Given the description of an element on the screen output the (x, y) to click on. 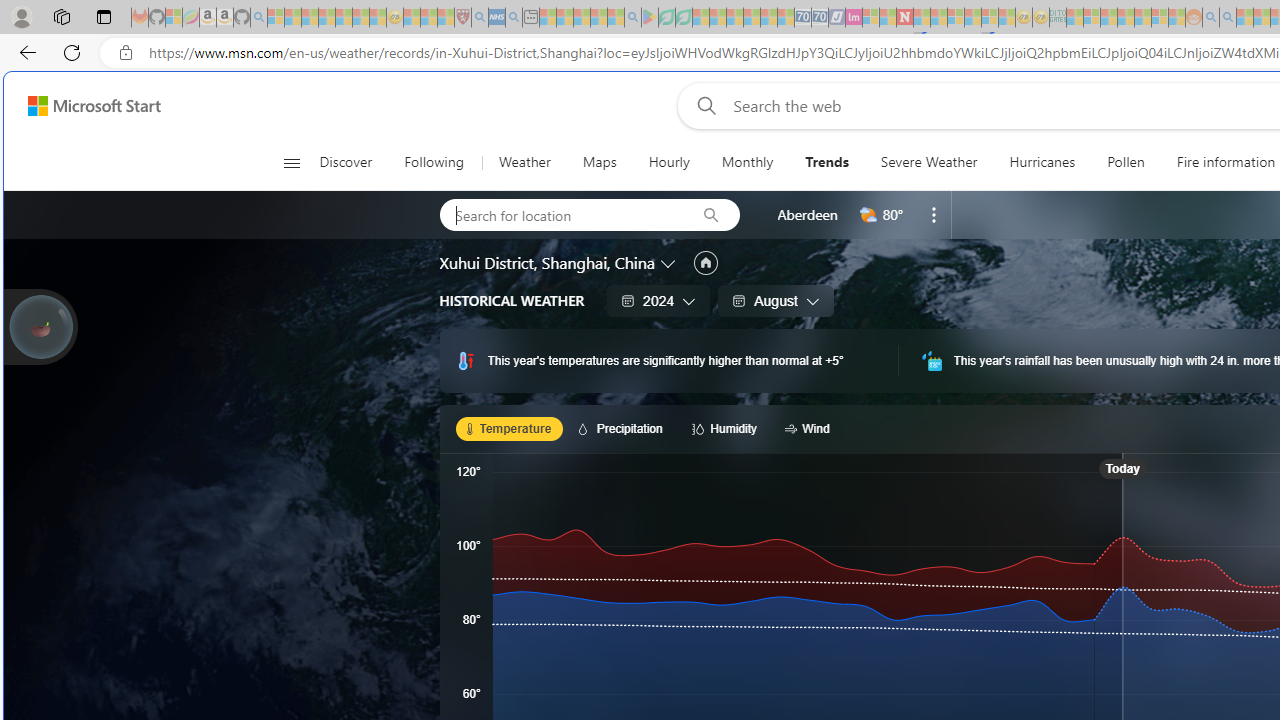
Xuhui District, Shanghai, China (547, 263)
Fire information (1226, 162)
Aberdeen (807, 214)
Trends (826, 162)
